Given the description of an element on the screen output the (x, y) to click on. 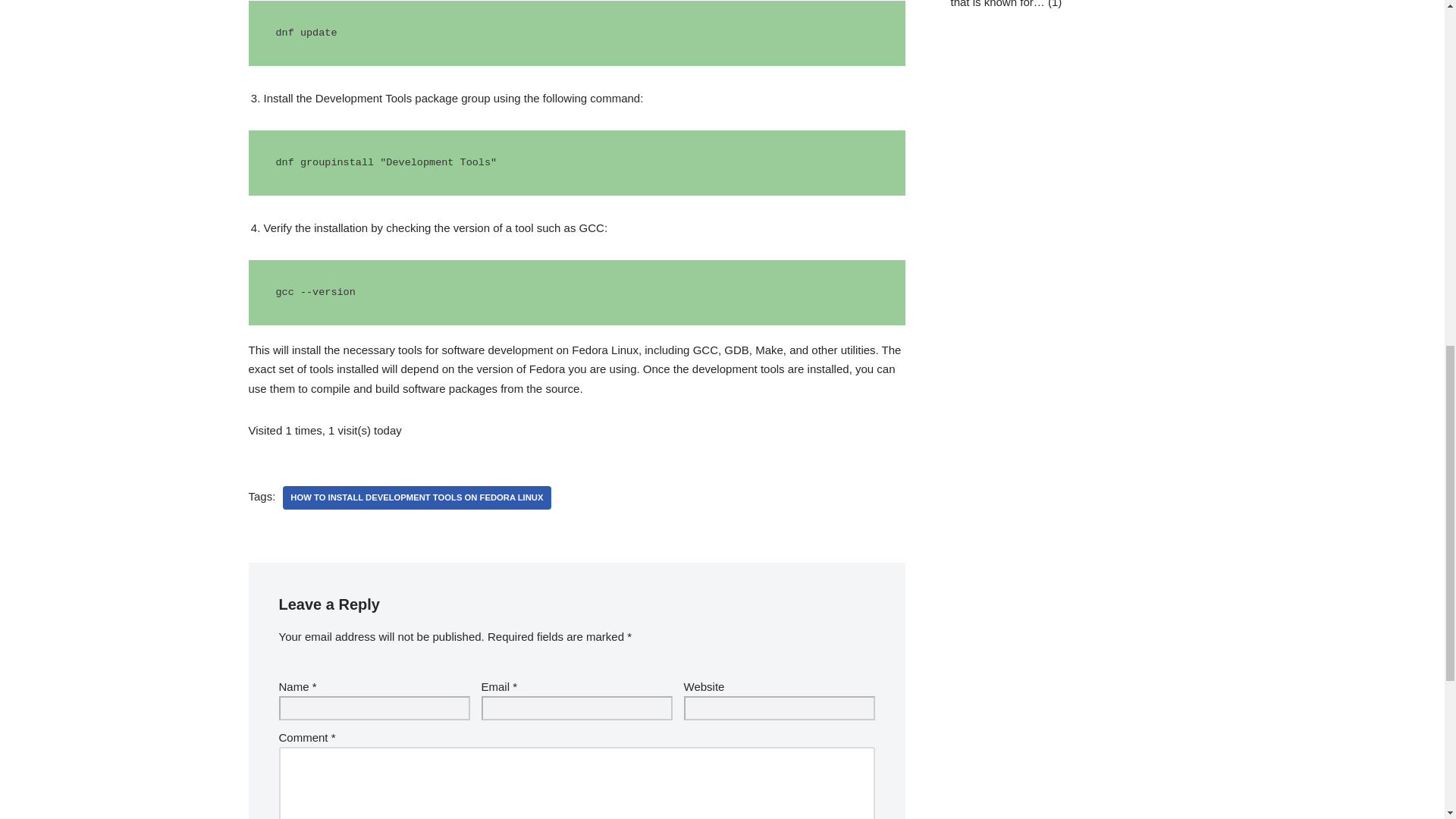
how to install development tools on fedora linux (416, 497)
